Given the description of an element on the screen output the (x, y) to click on. 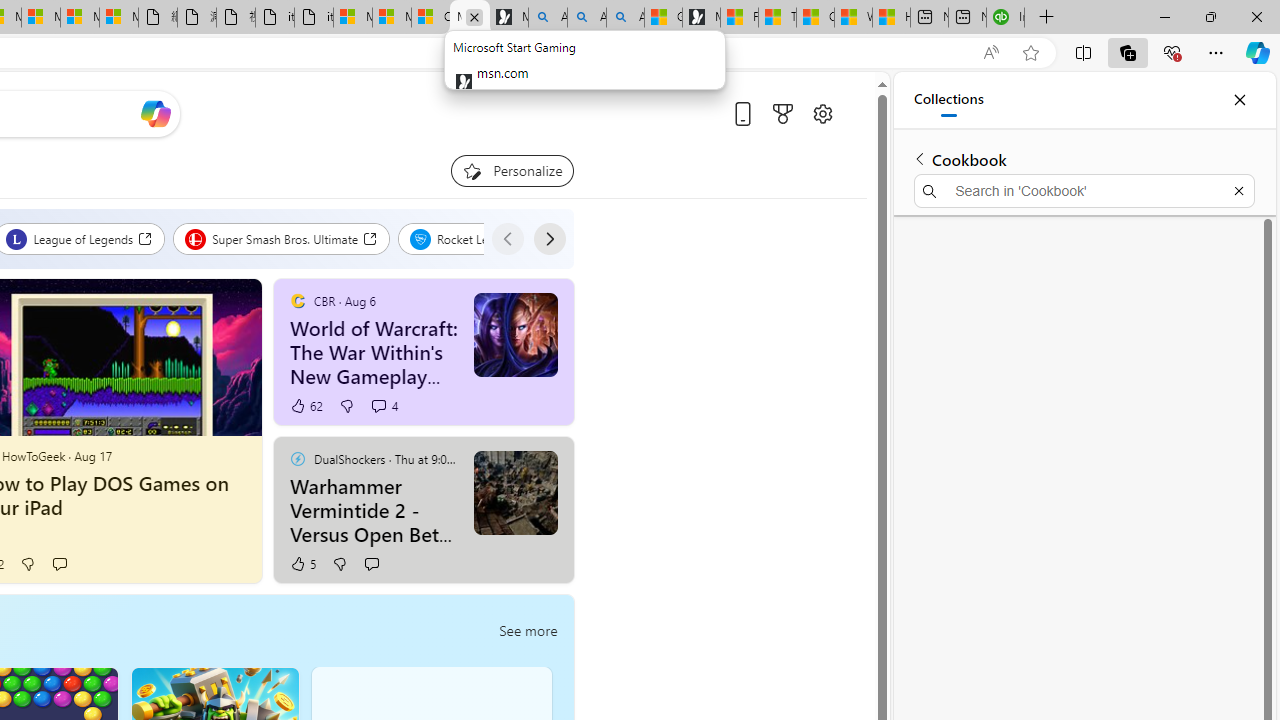
Alabama high school quarterback dies - Search (547, 17)
Next (548, 238)
Super Smash Bros. Ultimate (282, 238)
itconcepthk.com/projector_solutions.mp4 (313, 17)
